Given the description of an element on the screen output the (x, y) to click on. 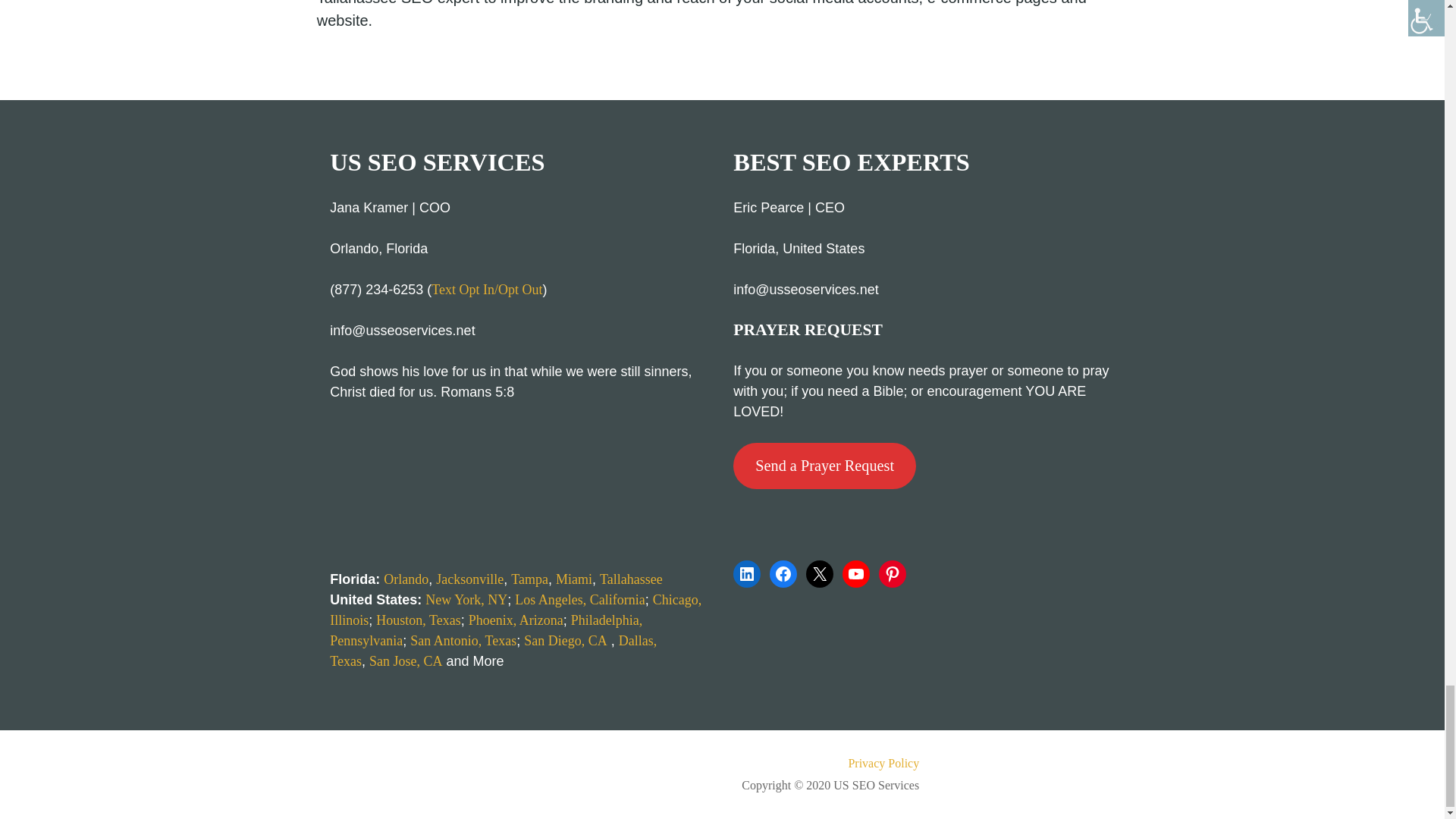
YouTube (856, 574)
Phoenix, Arizona (515, 620)
San Antonio, Texas (463, 640)
LinkedIn (746, 574)
Chicago, Illinois (515, 610)
Privacy Policy (617, 763)
Send a Prayer Request (824, 465)
Miami (574, 579)
Dallas, Texas (493, 651)
San Jose, CA (405, 661)
Facebook (783, 574)
Houston, Texas (417, 620)
Pinterest (892, 574)
Jacksonville (469, 579)
Orlando (406, 579)
